Given the description of an element on the screen output the (x, y) to click on. 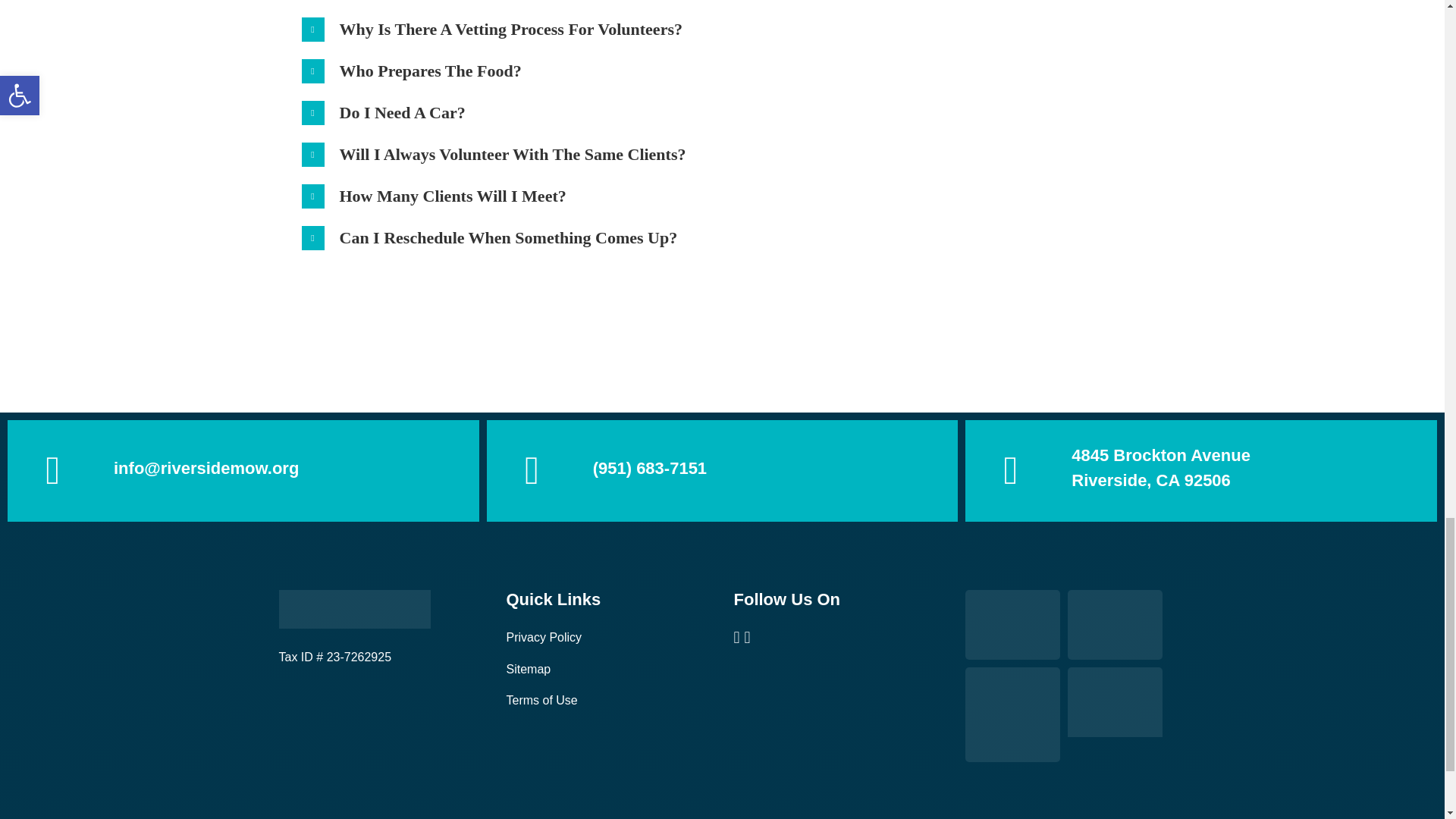
Terms of Use (542, 699)
Privacy Policy (544, 636)
Sitemap (528, 668)
